Given the description of an element on the screen output the (x, y) to click on. 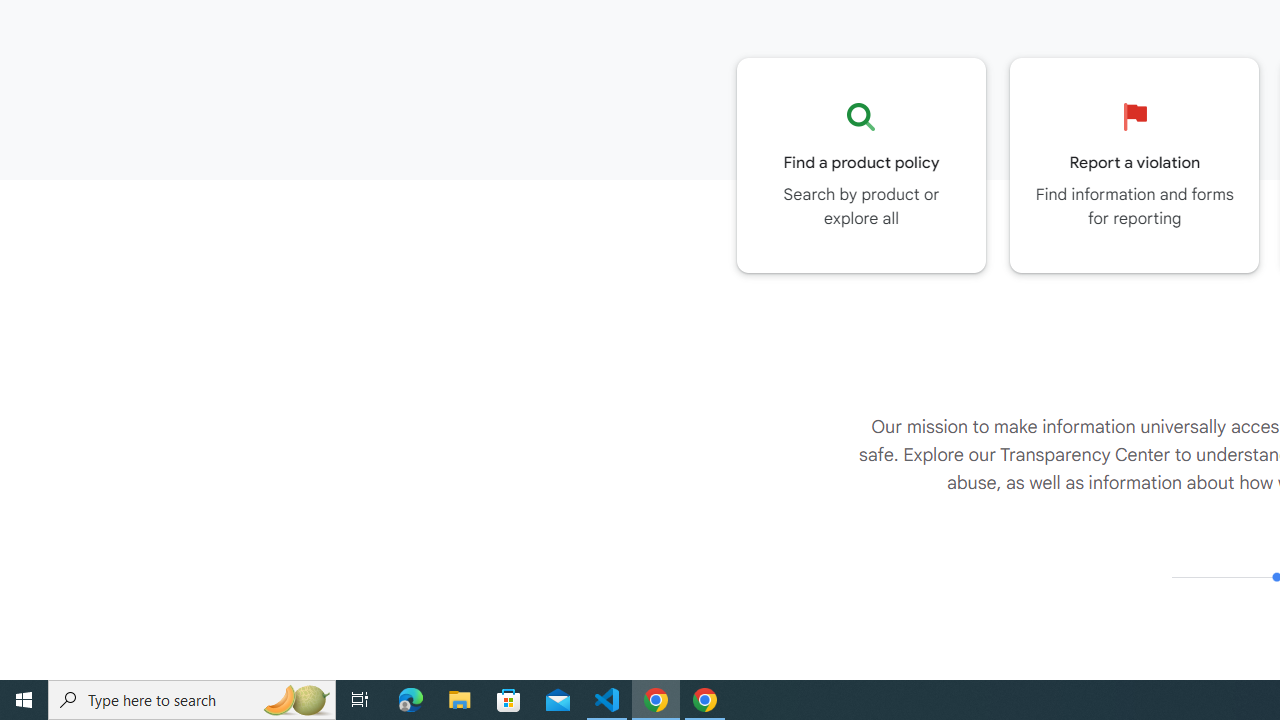
Go to the Product policy page (861, 165)
Go to the Reporting and appeals page (1134, 165)
